Given the description of an element on the screen output the (x, y) to click on. 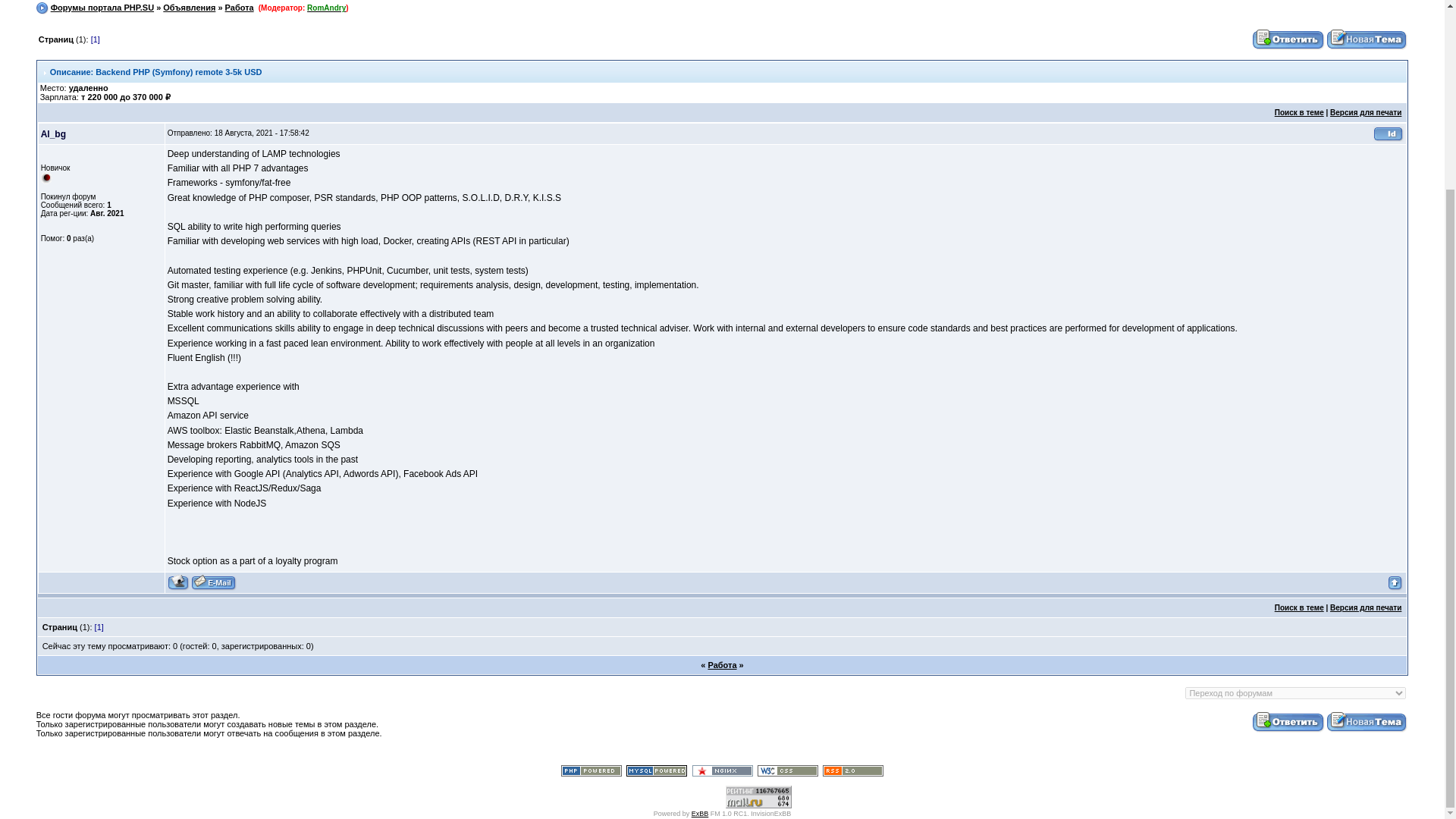
ID (1388, 132)
RomAndry (326, 8)
